Given the description of an element on the screen output the (x, y) to click on. 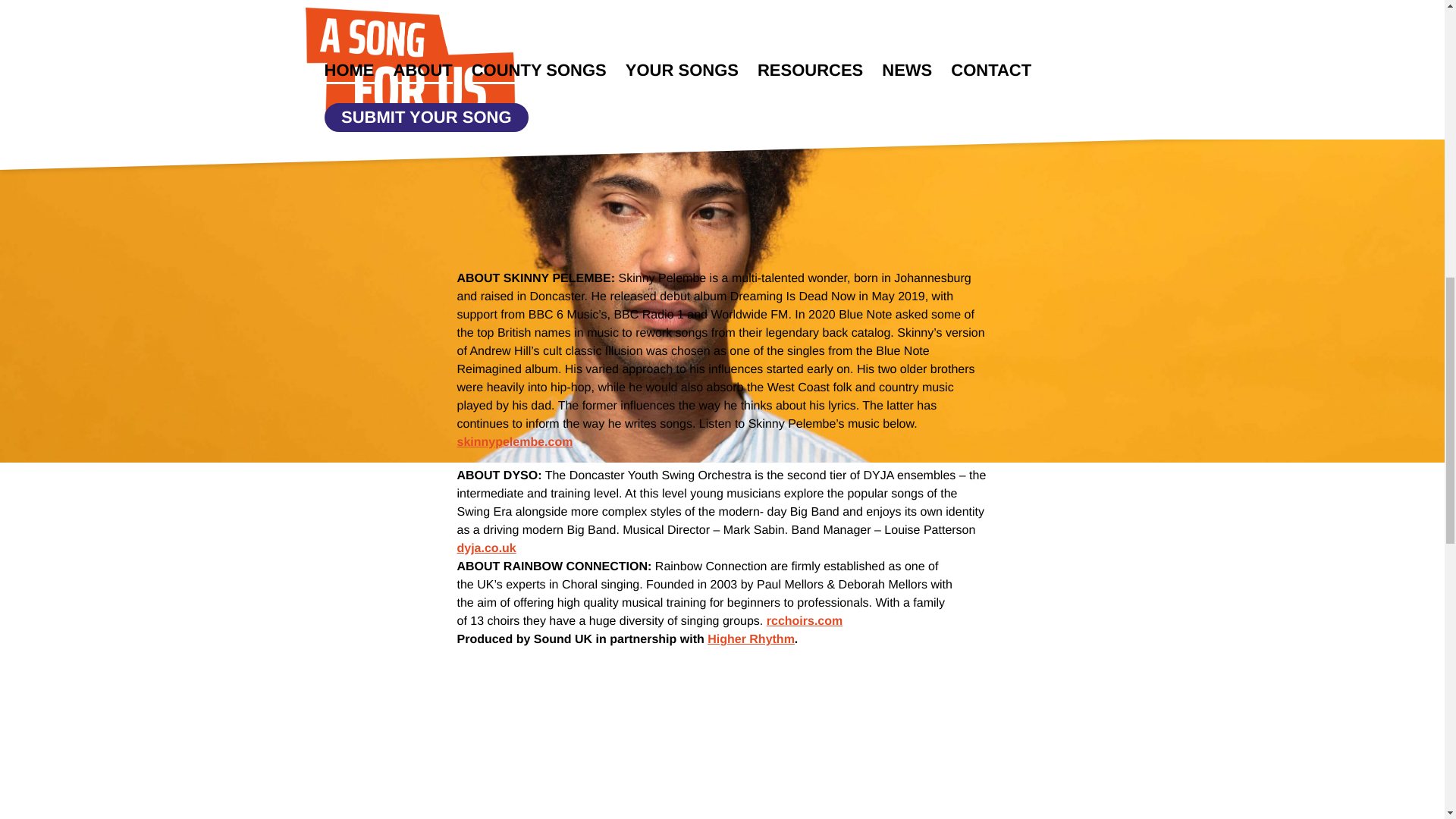
skinnypelembe.com (514, 441)
rcchoirs.com (805, 621)
dyja.co.uk (486, 548)
Higher Rhythm (750, 639)
